Given the description of an element on the screen output the (x, y) to click on. 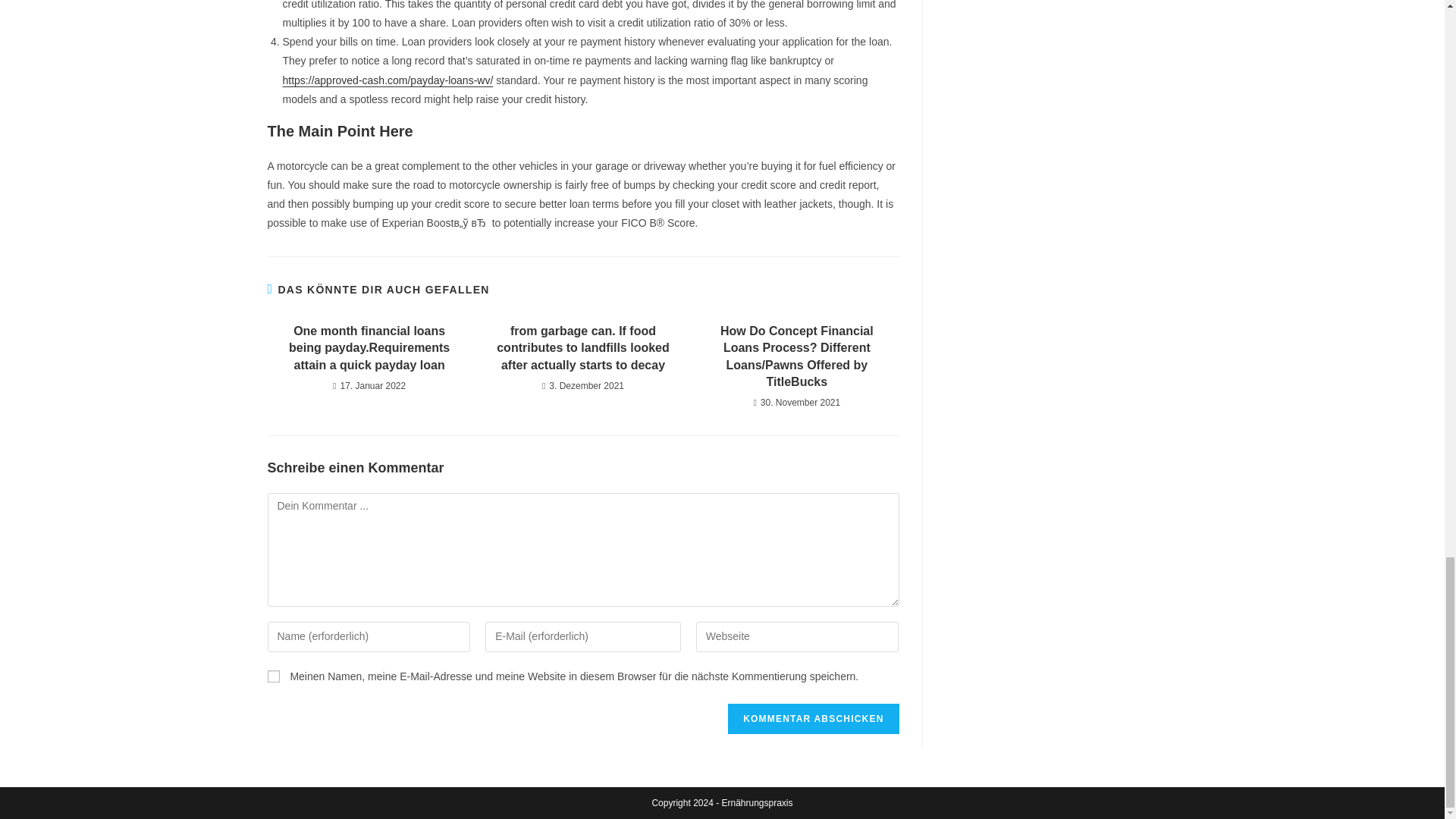
yes (272, 676)
Kommentar abschicken (813, 718)
Kommentar abschicken (813, 718)
